Given the description of an element on the screen output the (x, y) to click on. 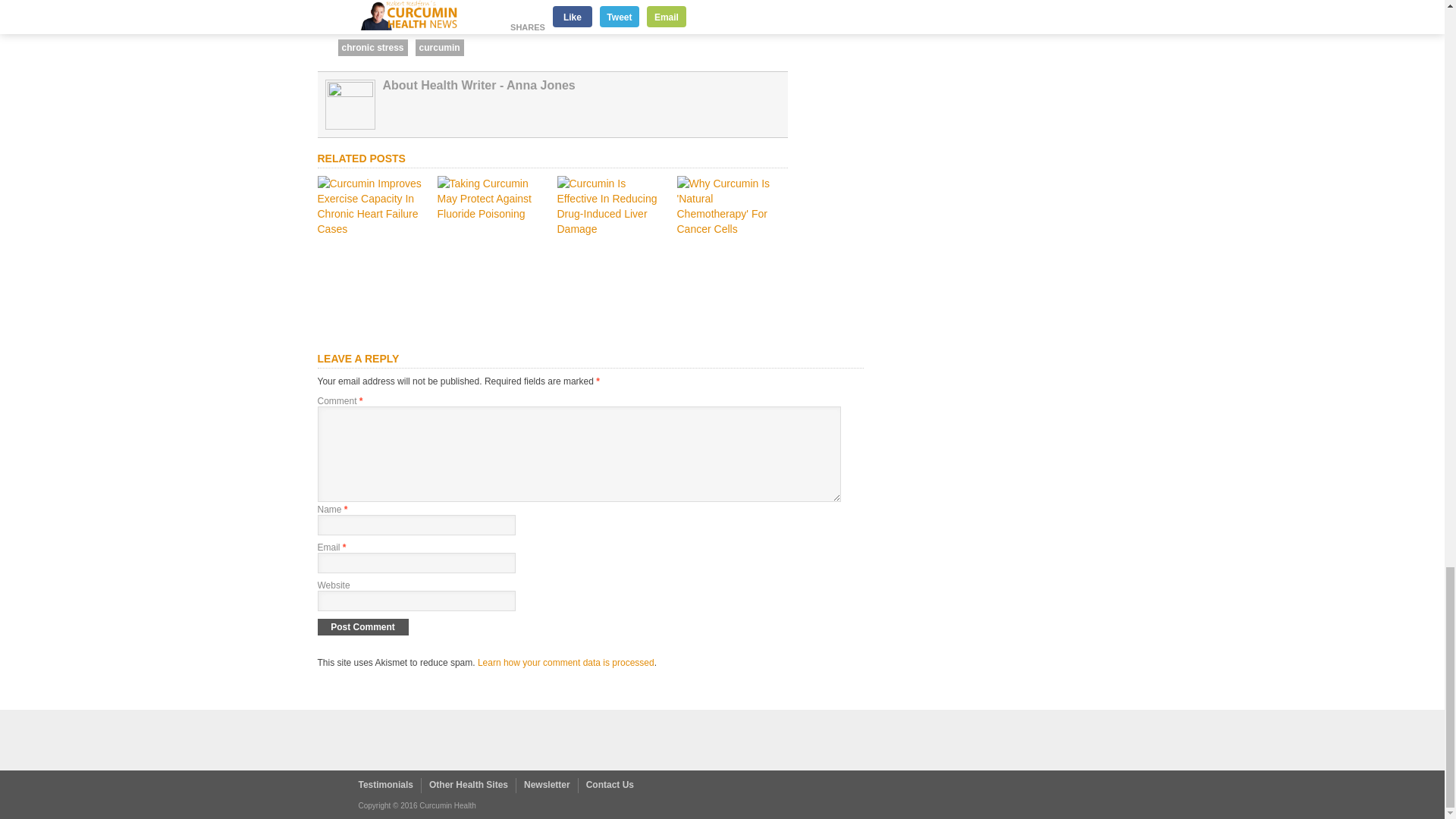
Taking Curcumin May Protect Against Fluoride Poisoning (491, 214)
Post Comment (362, 627)
Curcumin Is Effective In Reducing Drug-Induced Liver Damage (611, 228)
